Given the description of an element on the screen output the (x, y) to click on. 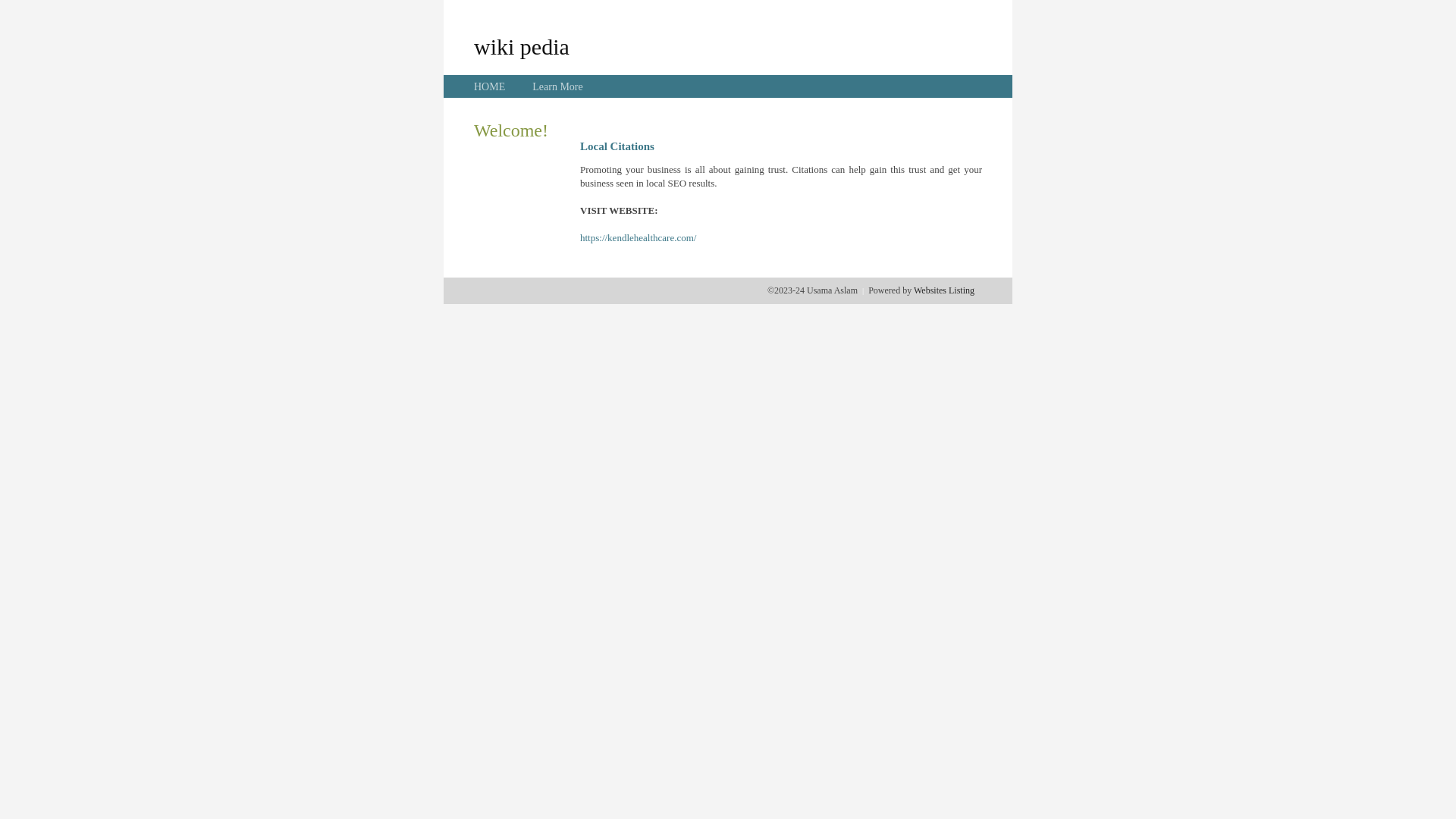
HOME Element type: text (489, 86)
Learn More Element type: text (557, 86)
wiki pedia Element type: text (521, 46)
https://kendlehealthcare.com/ Element type: text (638, 237)
Websites Listing Element type: text (943, 290)
